Given the description of an element on the screen output the (x, y) to click on. 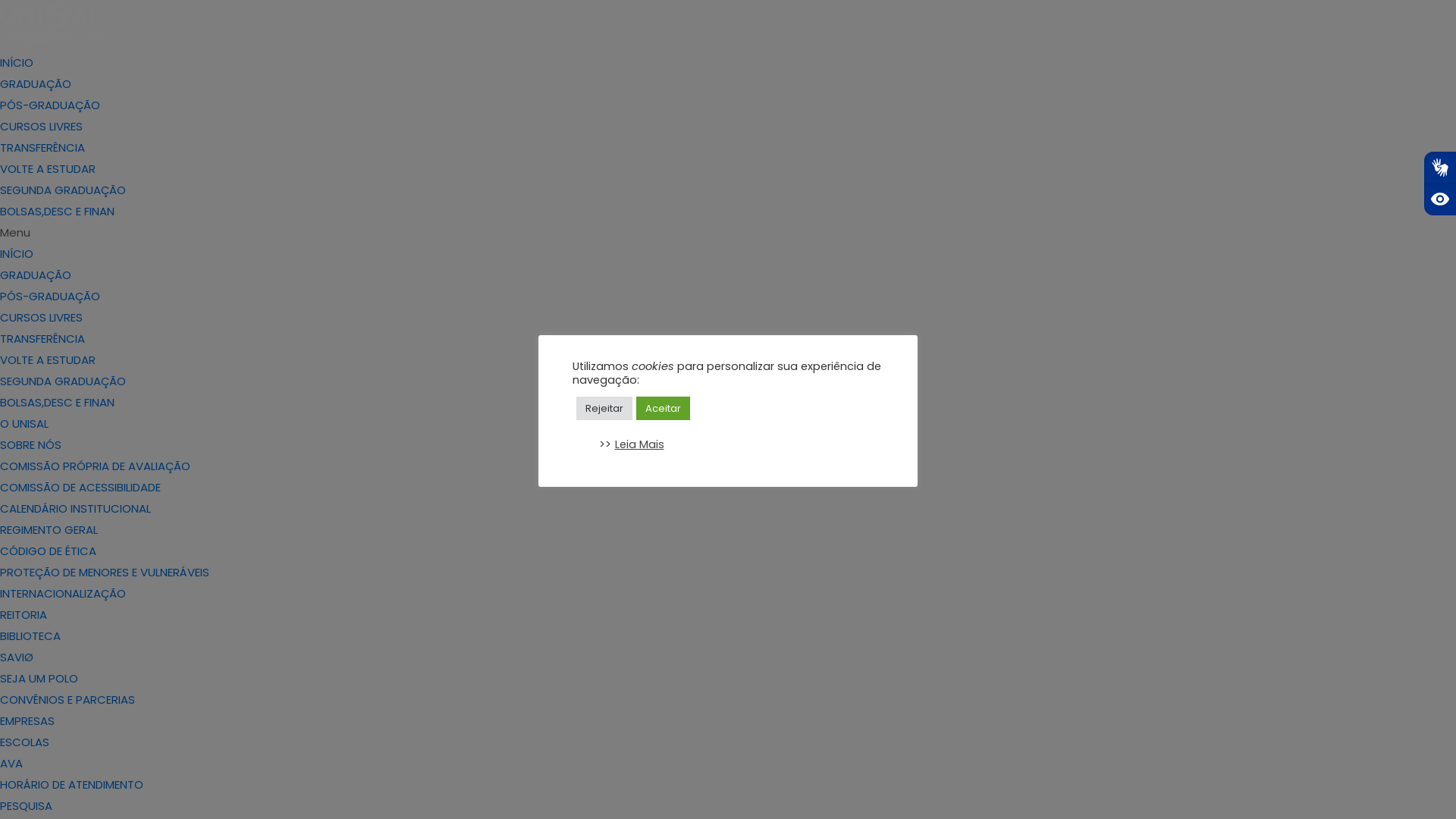
VOLTE A ESTUDAR Element type: text (47, 359)
EMPRESAS Element type: text (27, 720)
REITORIA Element type: text (23, 614)
REGIMENTO GERAL Element type: text (48, 529)
Rejeitar Element type: text (604, 408)
VOLTE A ESTUDAR Element type: text (47, 168)
BOLSAS,DESC E FINAN Element type: text (57, 211)
CURSOS LIVRES Element type: text (41, 126)
CURSOS LIVRES Element type: text (41, 317)
BOLSAS,DESC E FINAN Element type: text (57, 402)
BIBLIOTECA Element type: text (30, 635)
Aceitar Element type: text (663, 408)
AVA Element type: text (11, 763)
O UNISAL Element type: text (24, 423)
SEJA UM POLO Element type: text (39, 678)
ESCOLAS Element type: text (24, 741)
PESQUISA Element type: text (26, 805)
Leia Mais Element type: text (638, 443)
